Given the description of an element on the screen output the (x, y) to click on. 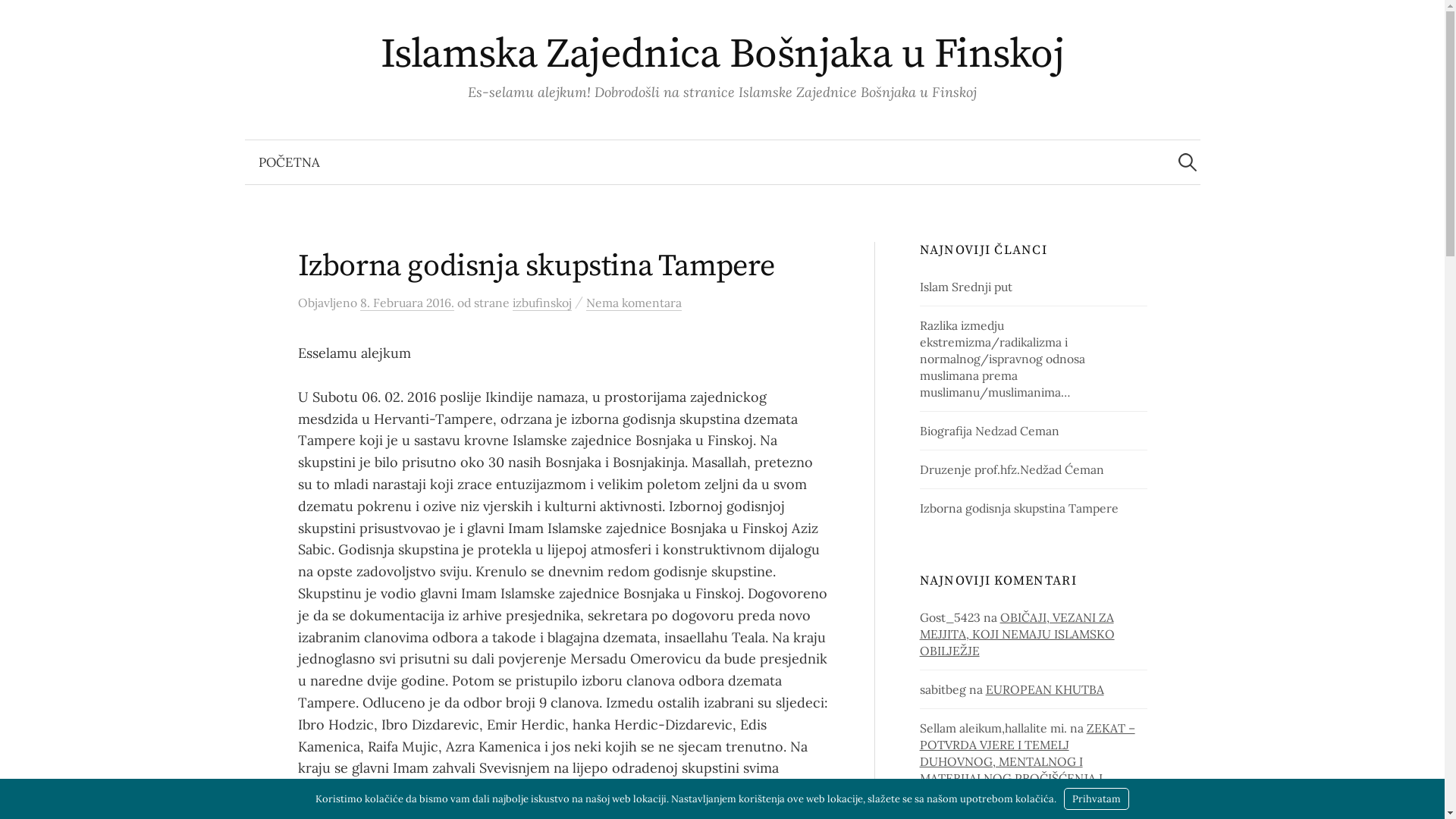
Islam Srednji put Element type: text (965, 286)
8. Februara 2016. Element type: text (406, 302)
Prihvatam Element type: text (1096, 798)
EUROPEAN KHUTBA Element type: text (1044, 688)
Biografija Nedzad Ceman Element type: text (989, 430)
Izborna godisnja skupstina Tampere Element type: text (1018, 507)
Nema komentara
na Izborna godisnja skupstina Tampere Element type: text (632, 302)
izbufinskoj Element type: text (541, 302)
Pretraga Element type: text (18, 18)
